Given the description of an element on the screen output the (x, y) to click on. 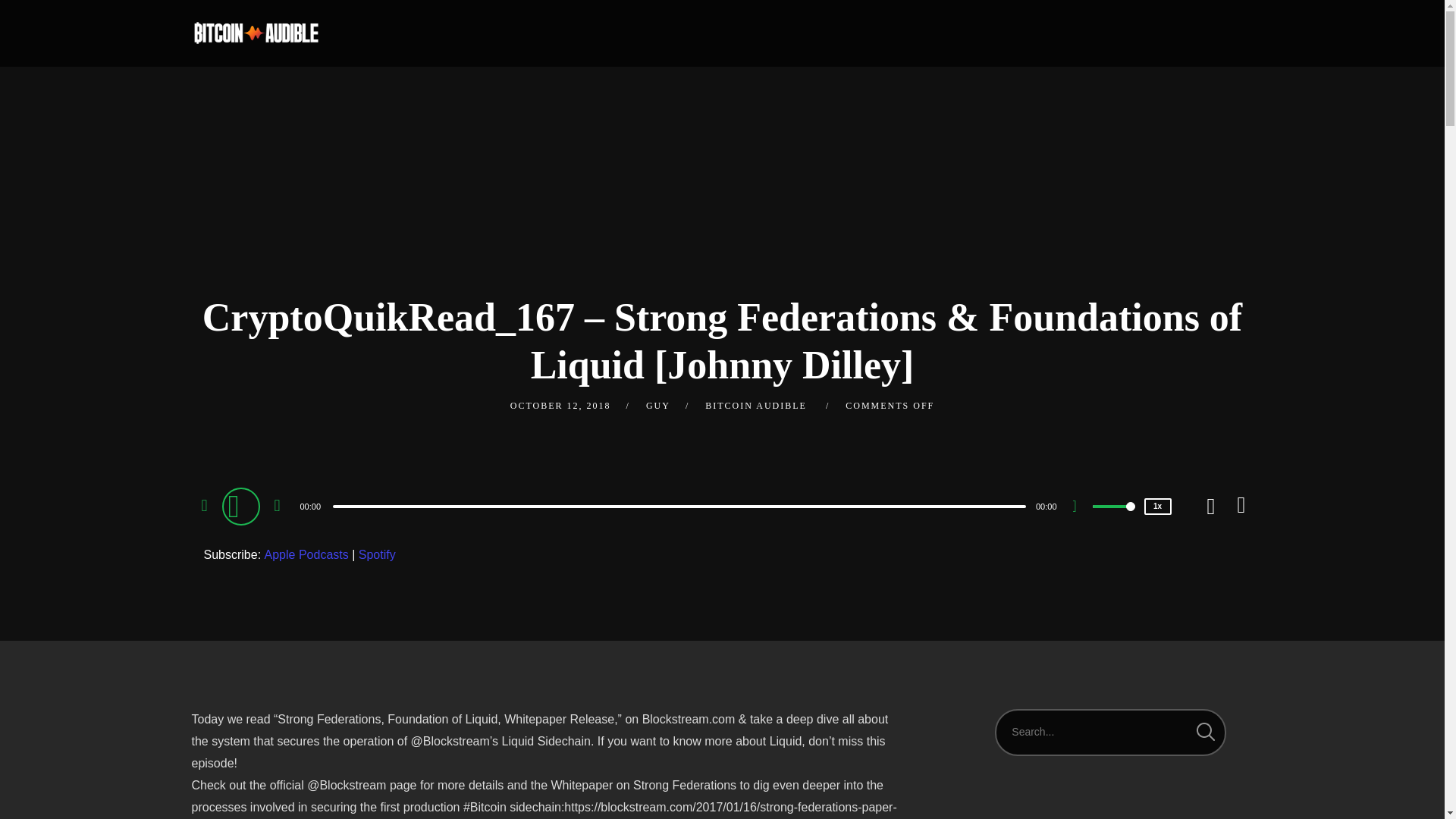
1x (1156, 506)
Submit (32, 22)
Speed Rate (1156, 506)
GUY (657, 405)
Apple Podcasts (306, 555)
Bitcoin Audible (255, 33)
Spotify (377, 555)
Spotify (377, 555)
Mute (1079, 507)
Apple Podcasts (306, 555)
Play (242, 505)
